Given the description of an element on the screen output the (x, y) to click on. 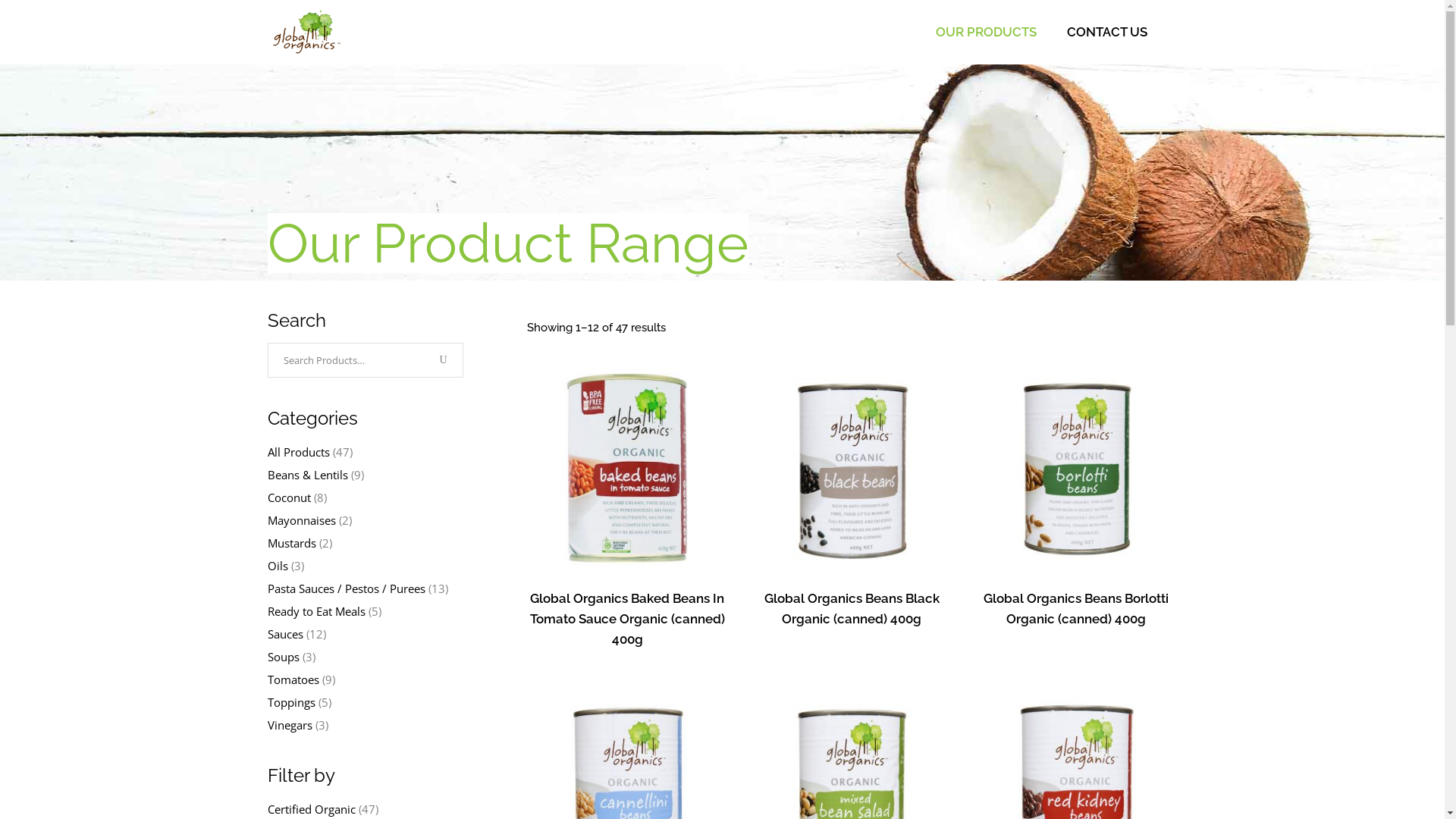
Global Organics Beans Borlotti Organic (canned) 400g Element type: text (1075, 608)
CONTACT US Element type: text (1106, 31)
Our Products Element type: text (611, 539)
Pasta Sauces / Pestos / Purees Element type: text (345, 588)
Privacy Policy Element type: text (613, 559)
Global Organics Beans Black Organic (canned) 400g Element type: text (851, 608)
OUR PRODUCTS Element type: text (985, 31)
Search for: Element type: hover (350, 359)
All Products Element type: text (297, 451)
prodinfo@kadac.com.au Element type: text (988, 626)
Mustards Element type: text (290, 542)
Tomatoes Element type: text (292, 679)
1300 762 025 Element type: text (965, 606)
Mayonnaises Element type: text (300, 519)
Beans & Lentils Element type: text (306, 474)
Contact Us Element type: text (606, 579)
Soups Element type: text (282, 656)
Coconut Element type: text (288, 497)
Oils Element type: text (276, 565)
Ready to Eat Meals Element type: text (315, 610)
Sauces Element type: text (284, 633)
Vinegars Element type: text (288, 724)
Toppings Element type: text (290, 701)
Certified Organic Element type: text (310, 808)
